Given the description of an element on the screen output the (x, y) to click on. 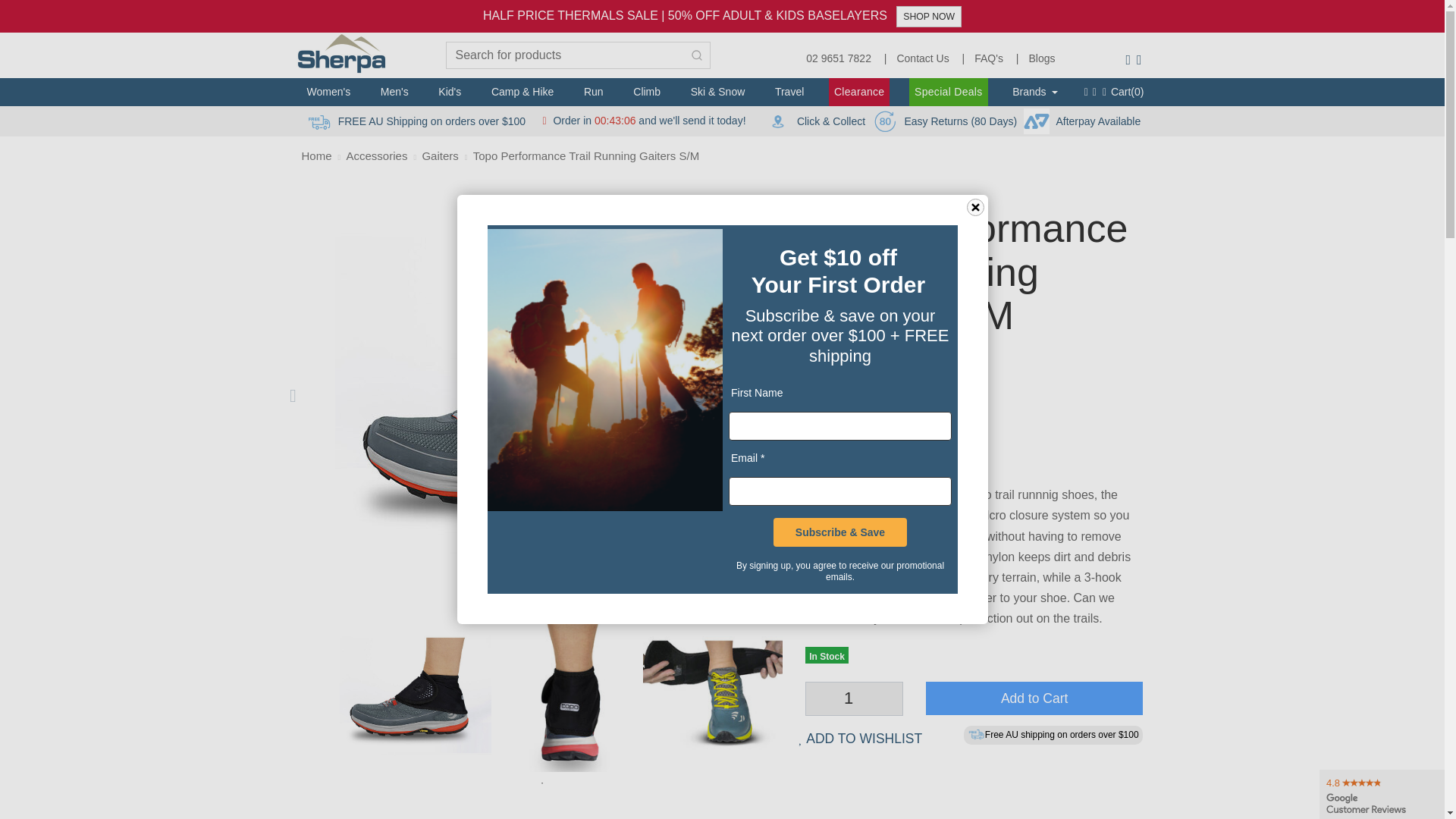
Large View (718, 695)
Submit (697, 54)
02 9651 7822 (838, 55)
Sherpa Outdoors (344, 51)
Contact Us (922, 55)
SHOP NOW (928, 16)
FAQ's (988, 55)
Blogs (1041, 55)
Large View (415, 695)
PayPal Message 1 (973, 445)
Large View (567, 695)
Women'S (328, 91)
Customer reviews powered by Trustpilot (973, 358)
1 (853, 698)
